Given the description of an element on the screen output the (x, y) to click on. 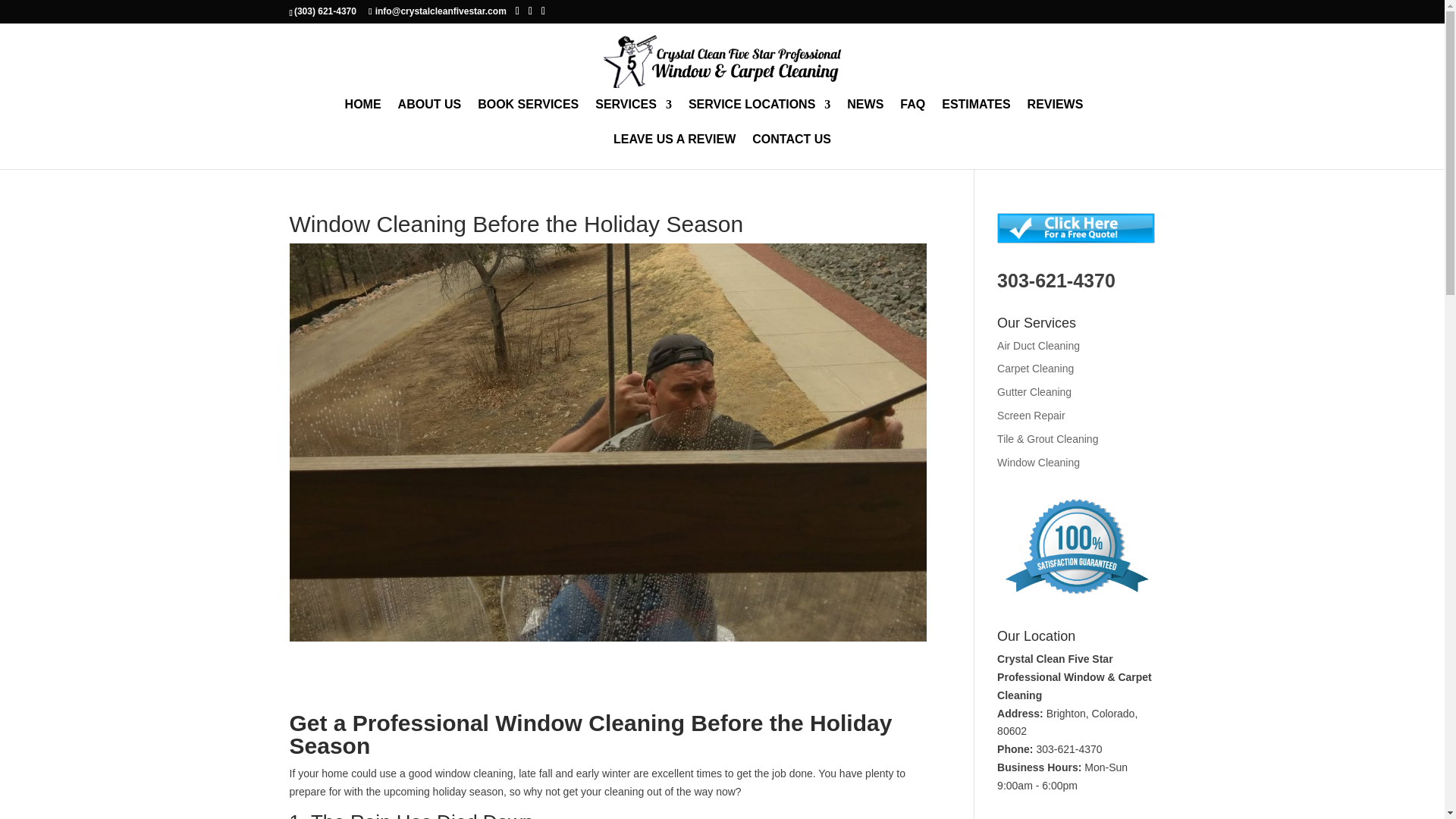
ESTIMATES (976, 116)
CONTACT US (791, 151)
HOME (363, 116)
BOOK SERVICES (527, 116)
SERVICES (633, 116)
LEAVE US A REVIEW (673, 151)
REVIEWS (1055, 116)
NEWS (865, 116)
ABOUT US (429, 116)
SERVICE LOCATIONS (758, 116)
